Given the description of an element on the screen output the (x, y) to click on. 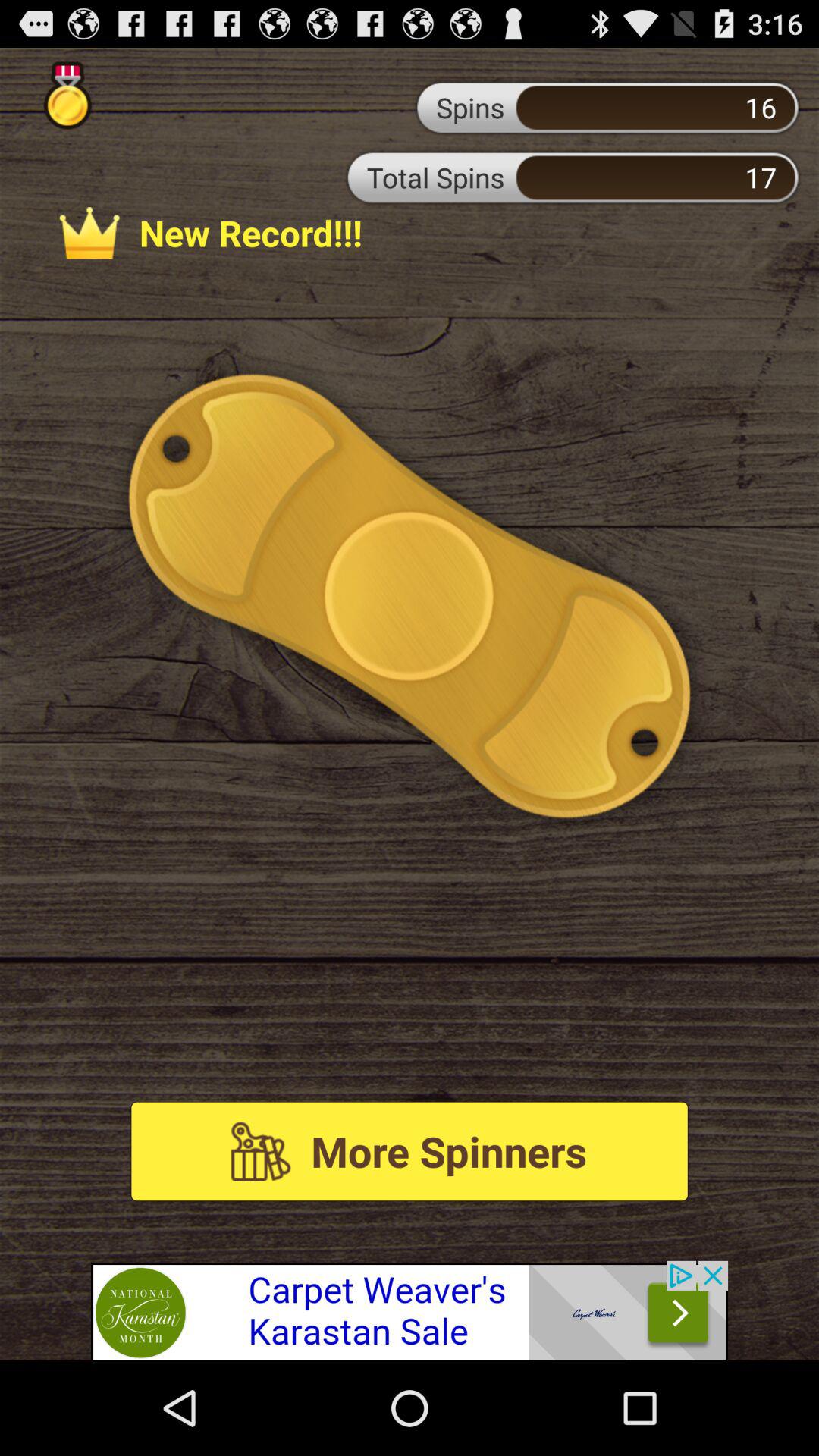
view achievements (67, 95)
